Given the description of an element on the screen output the (x, y) to click on. 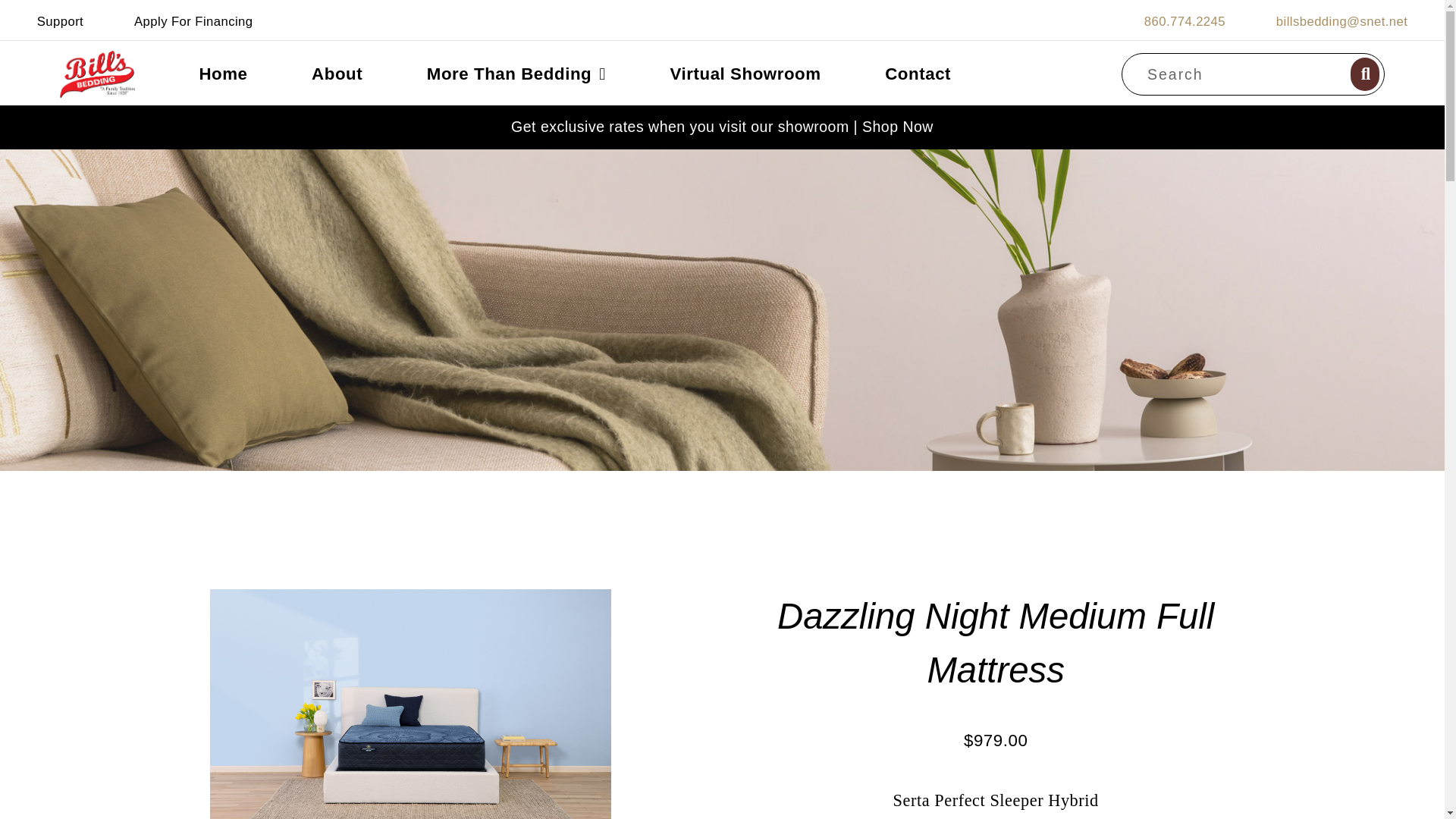
Virtual Showroom (745, 74)
Shop Now (897, 126)
860.774.2245 (1184, 21)
Apply For Financing (192, 21)
Contact (917, 74)
More Than Bedding (516, 74)
Home (222, 74)
Support (59, 21)
About (337, 74)
